Given the description of an element on the screen output the (x, y) to click on. 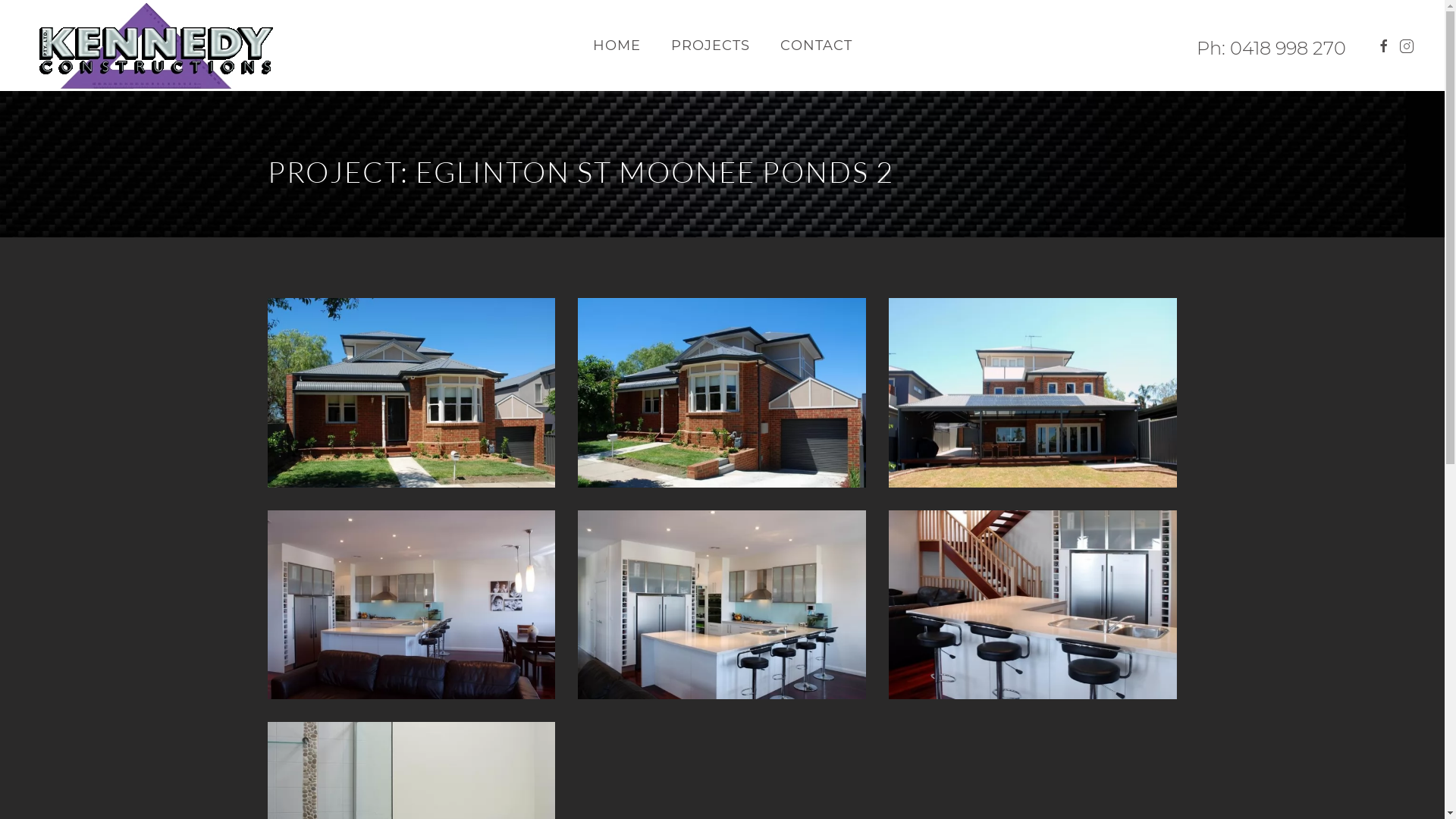
HOME Element type: text (616, 45)
PROJECTS Element type: text (709, 45)
CONTACT Element type: text (815, 45)
0418 998 270 Element type: text (1288, 48)
